Given the description of an element on the screen output the (x, y) to click on. 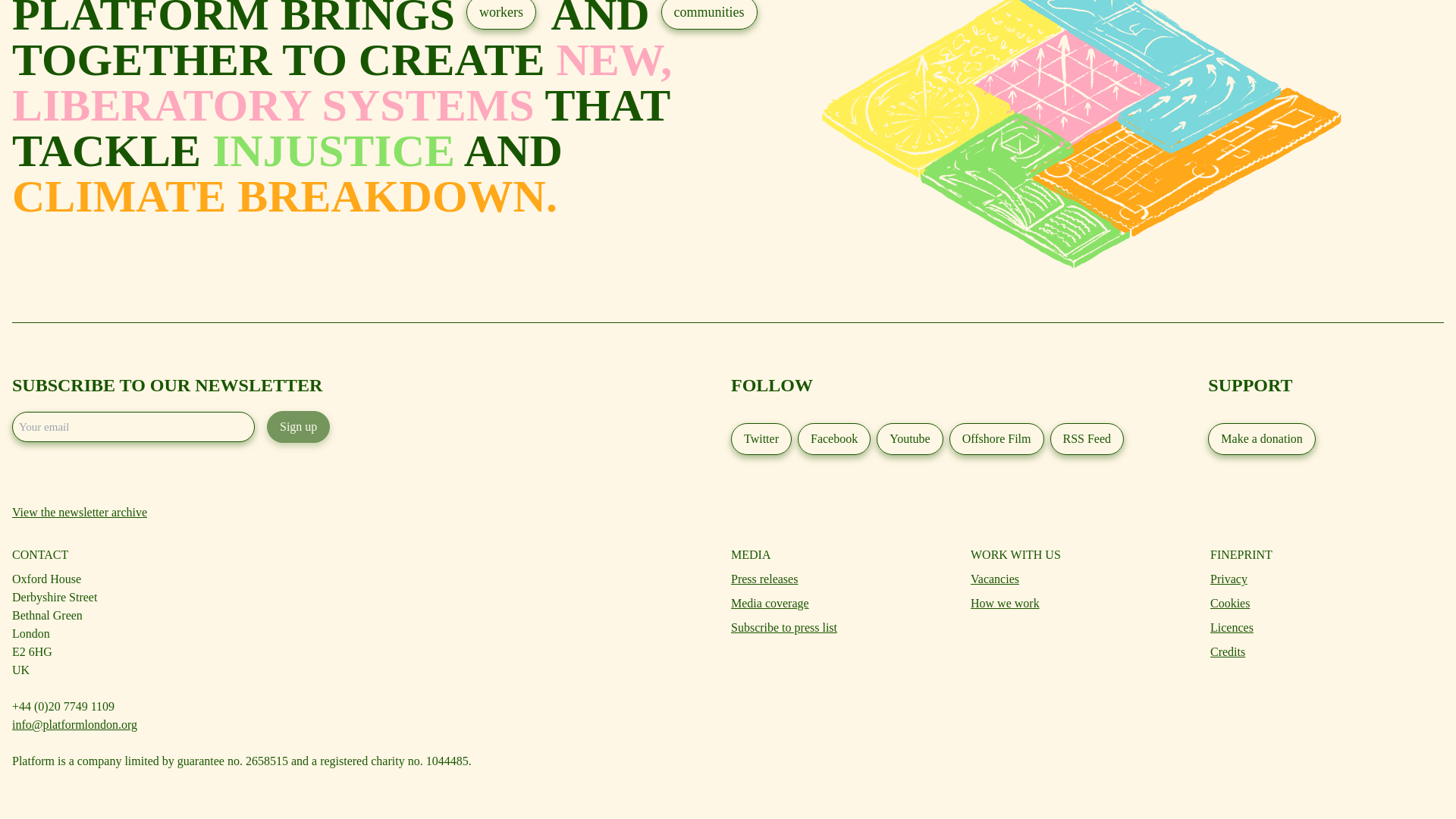
Sign up (298, 427)
